Given the description of an element on the screen output the (x, y) to click on. 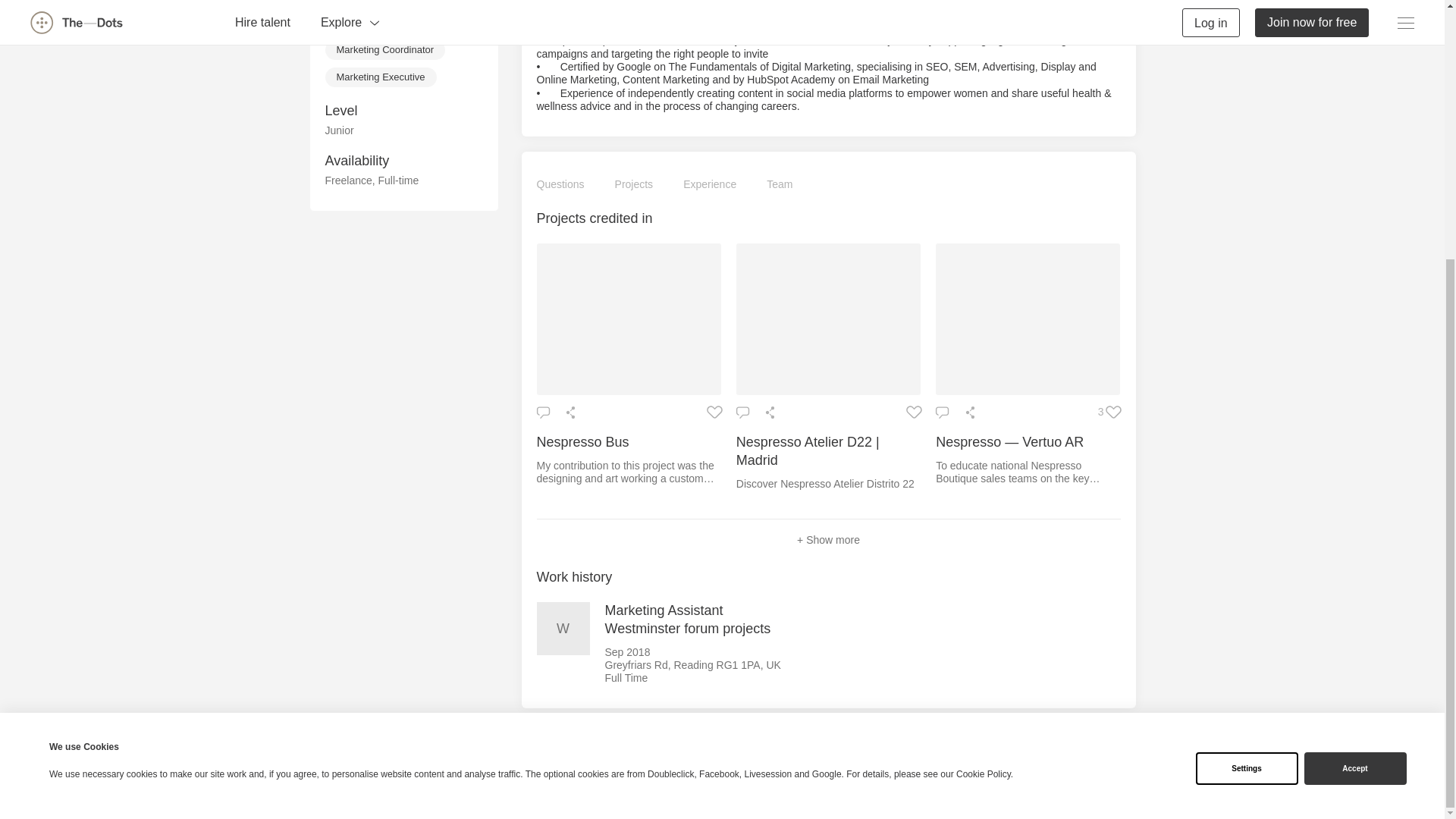
Experience (709, 184)
Questions (561, 184)
Projects (633, 184)
Team (779, 184)
